Given the description of an element on the screen output the (x, y) to click on. 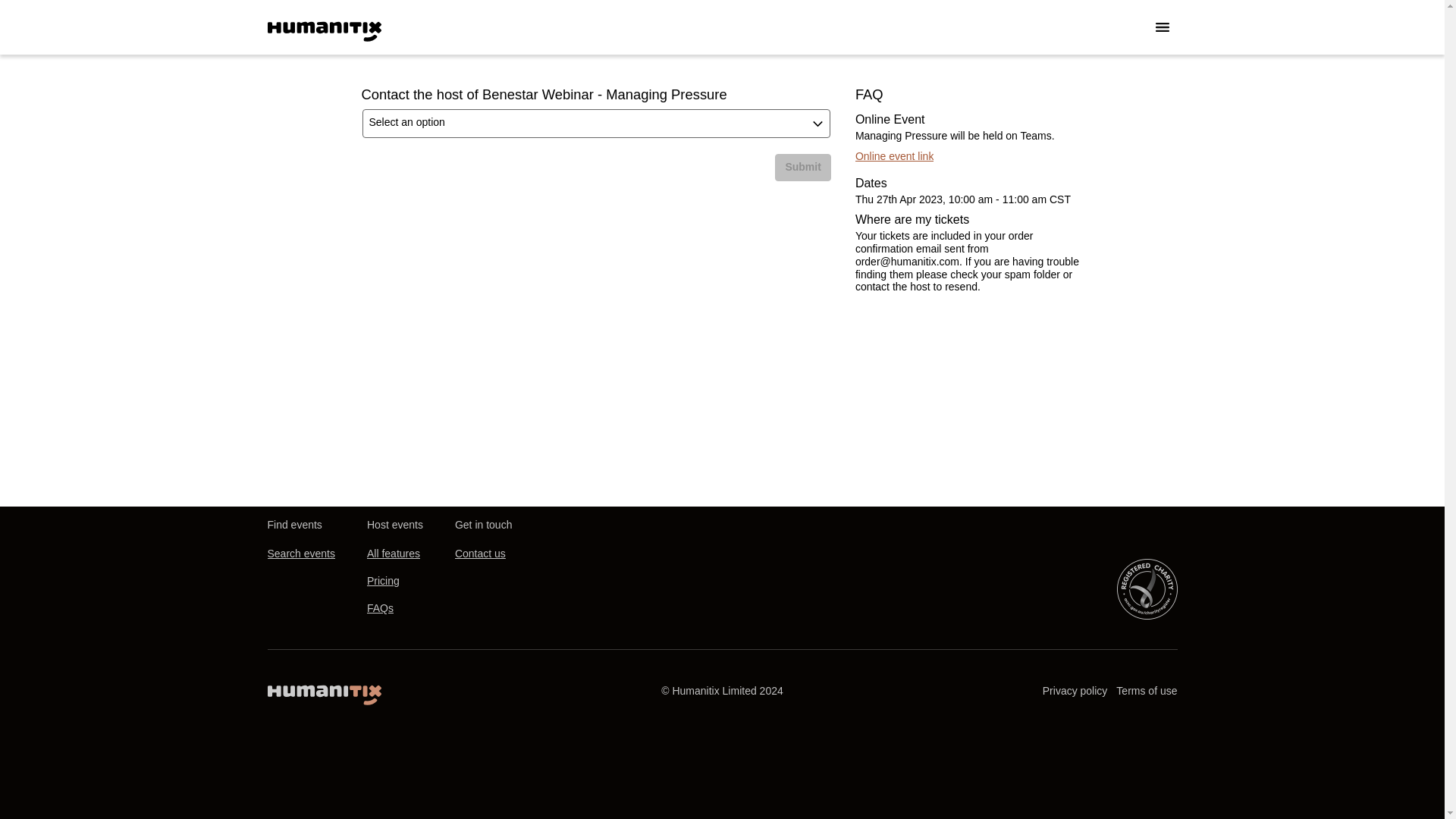
Terms of use (1146, 690)
Privacy policy (1075, 690)
FAQs (379, 607)
All features (393, 553)
Skip to Content (18, 18)
Submit (801, 166)
Contact us (479, 553)
Pricing (382, 580)
Search events (300, 553)
